Given the description of an element on the screen output the (x, y) to click on. 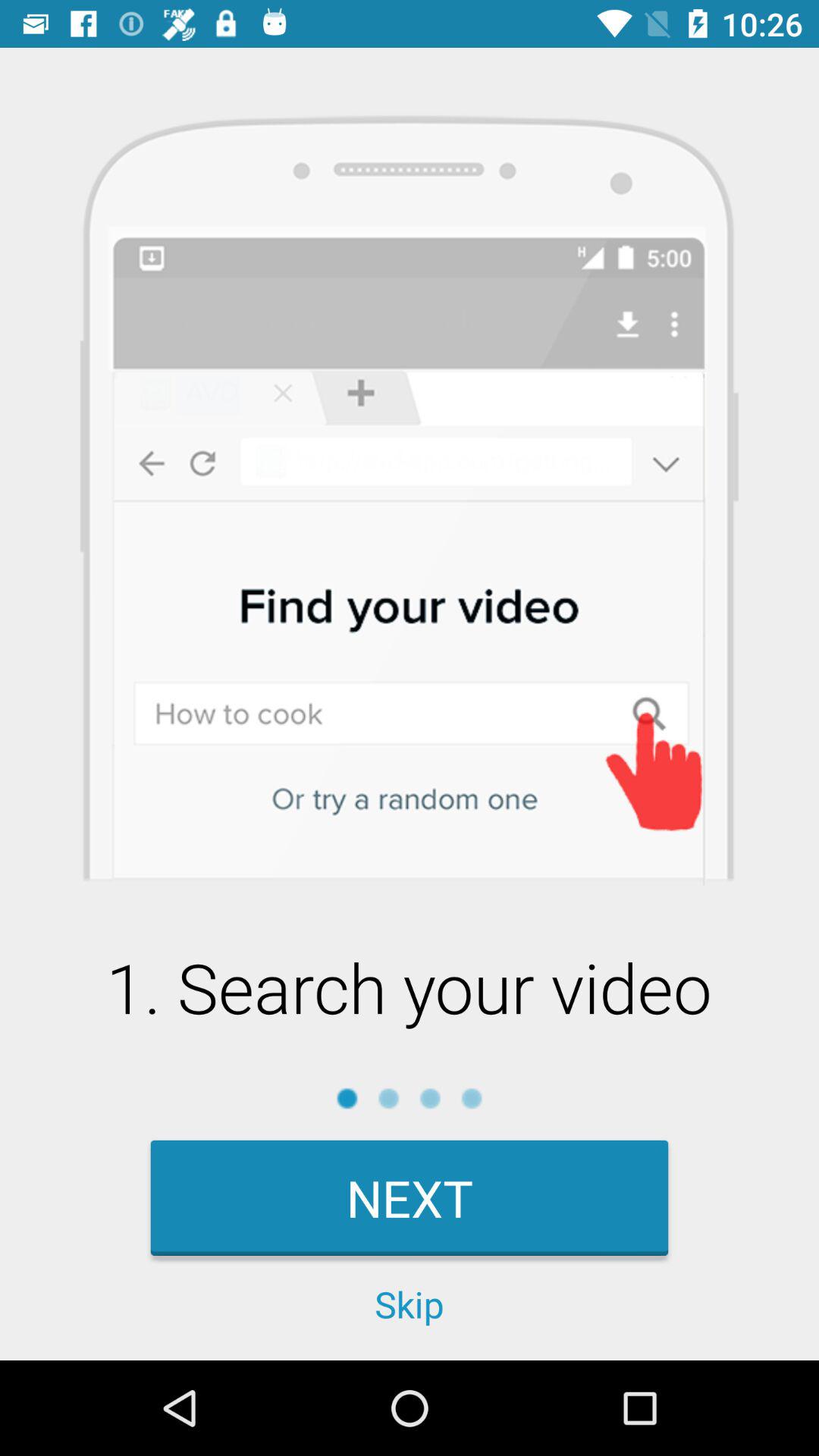
select the next (409, 1197)
